Given the description of an element on the screen output the (x, y) to click on. 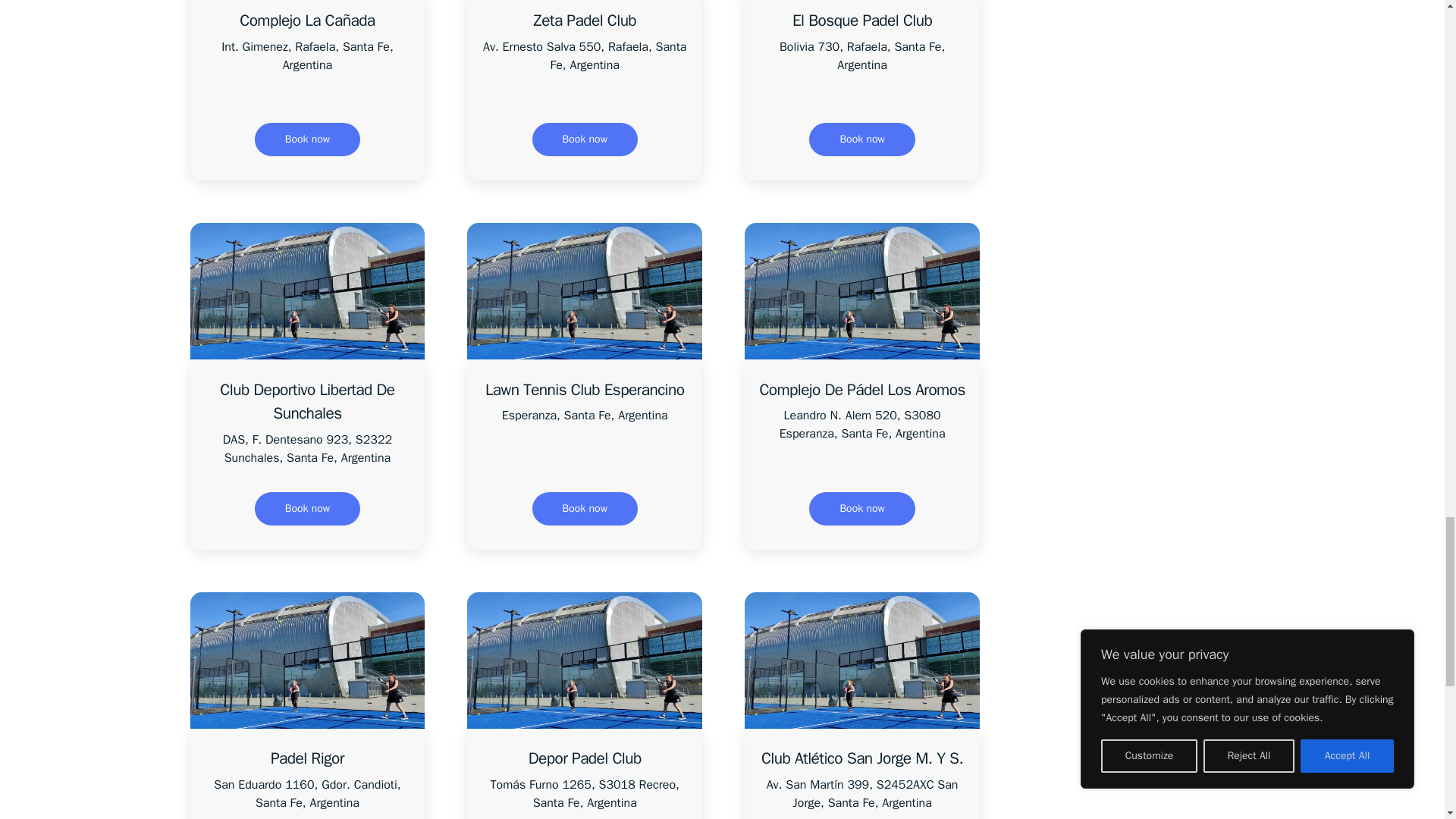
Book now (306, 139)
Book now (861, 139)
Book now (306, 508)
Book now (584, 139)
